Given the description of an element on the screen output the (x, y) to click on. 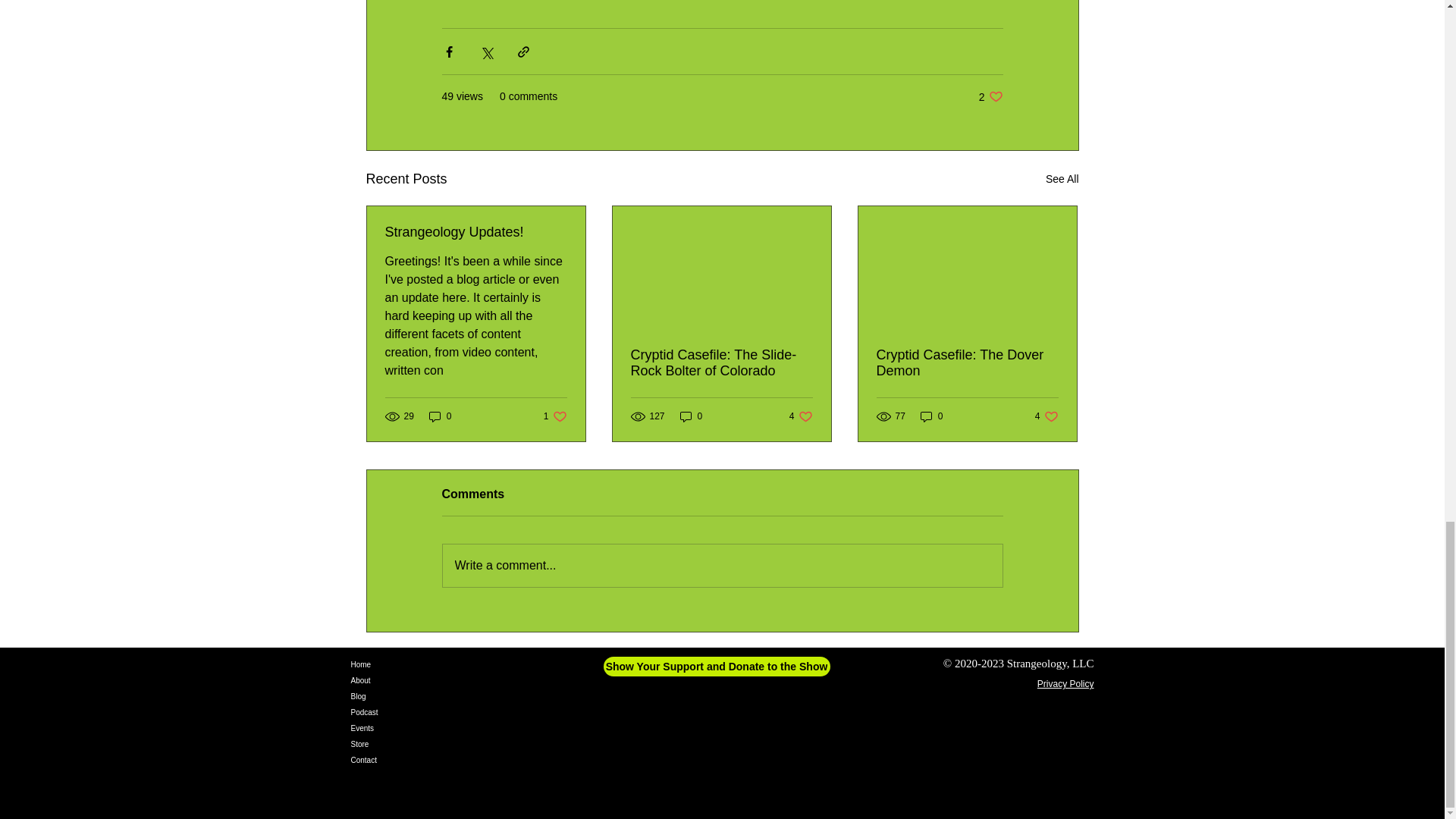
See All (800, 416)
0 (1061, 179)
0 (990, 96)
Cryptid Casefile: The Slide-Rock Bolter of Colorado (440, 416)
Strangeology Updates! (691, 416)
